Given the description of an element on the screen output the (x, y) to click on. 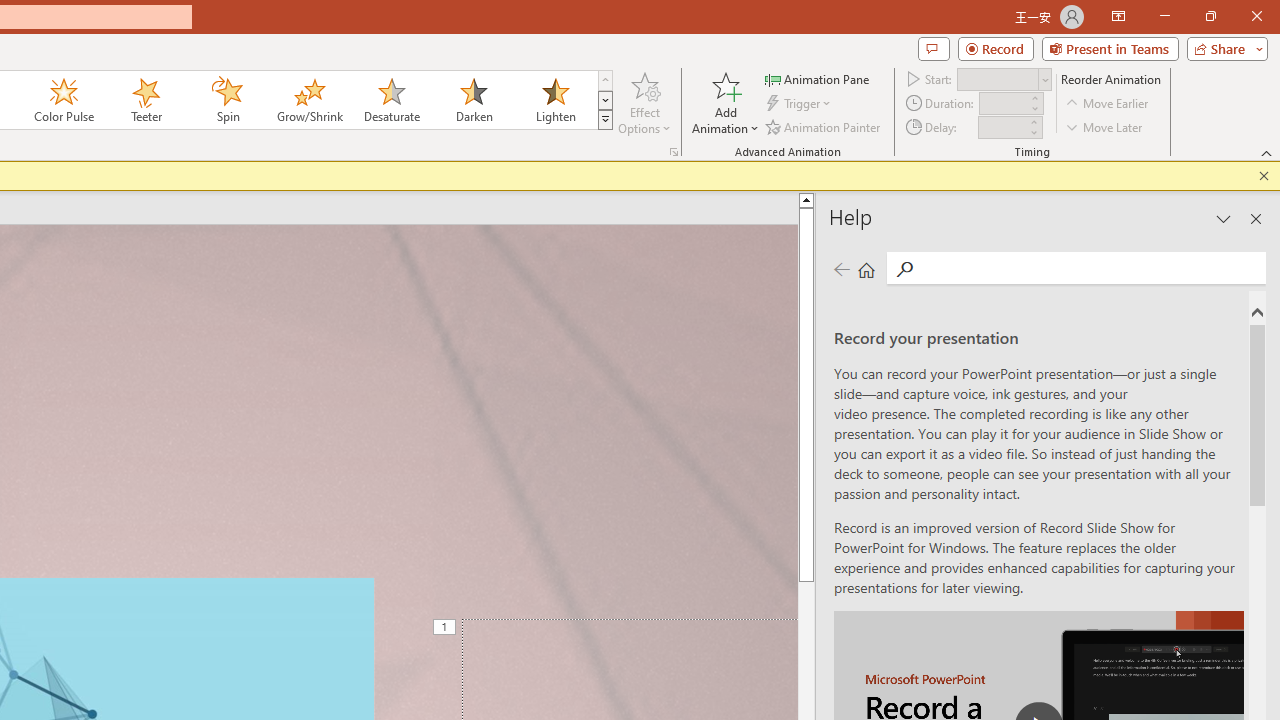
Page up (806, 369)
Darken (473, 100)
Lighten (555, 100)
Animation Pane (818, 78)
Move Later (1105, 126)
Spin (227, 100)
Animation Duration (1003, 103)
Close this message (1263, 176)
Add Animation (725, 102)
Animation Delay (1002, 127)
